Given the description of an element on the screen output the (x, y) to click on. 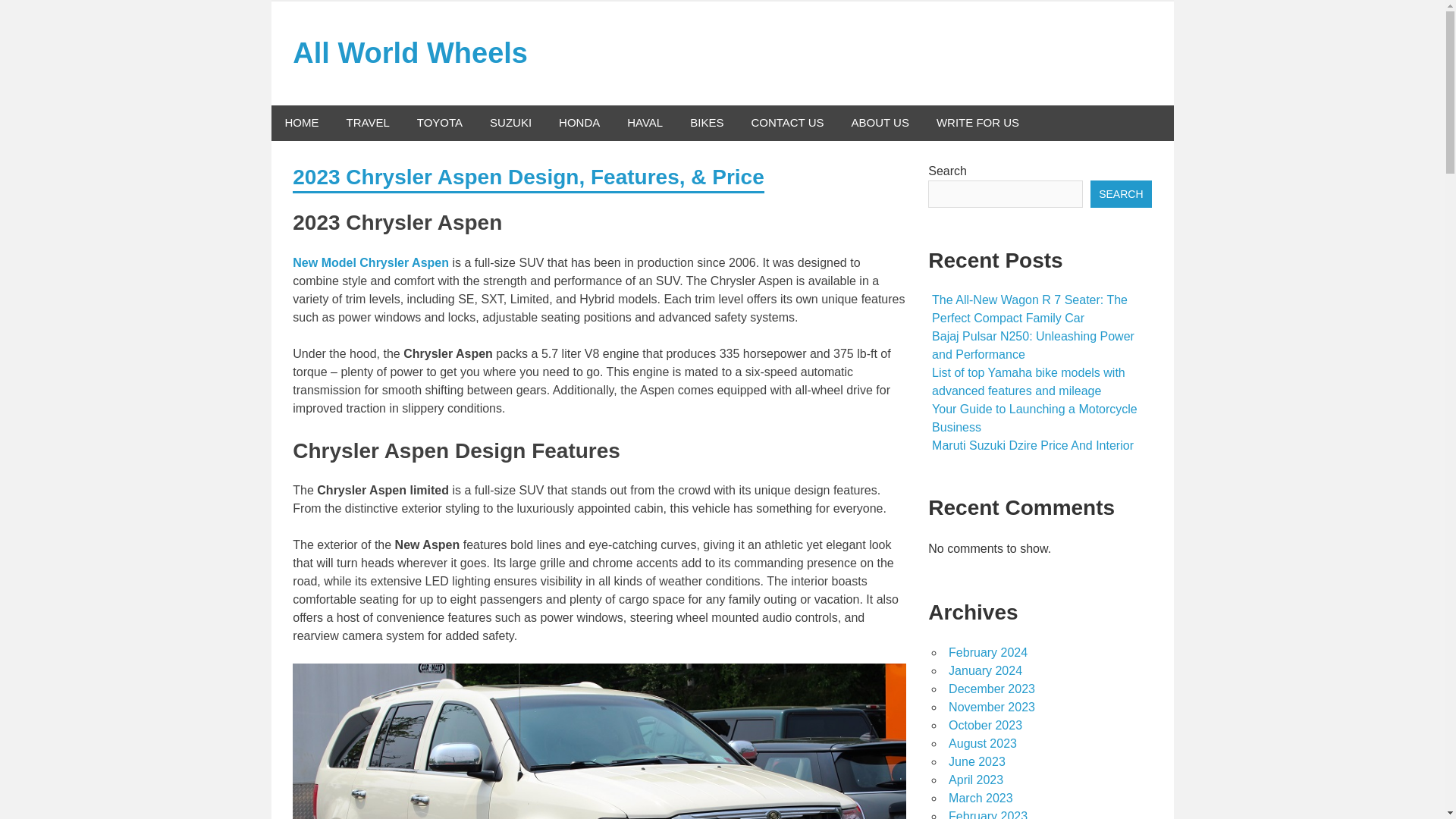
HAVAL (644, 122)
New Model Chrysler Aspen (370, 262)
December 2023 (992, 688)
Maruti Suzuki Dzire Price And Interior (1032, 445)
HOME (301, 122)
All World Wheels (409, 52)
The All-New Wagon R 7 Seater: The Perfect Compact Family Car (1028, 308)
Bajaj Pulsar N250: Unleashing Power and Performance (1032, 345)
Your Guide to Launching a Motorcycle Business (1034, 418)
BIKES (706, 122)
TOYOTA (439, 122)
WRITE FOR US (977, 122)
CONTACT US (786, 122)
February 2024 (988, 652)
